Given the description of an element on the screen output the (x, y) to click on. 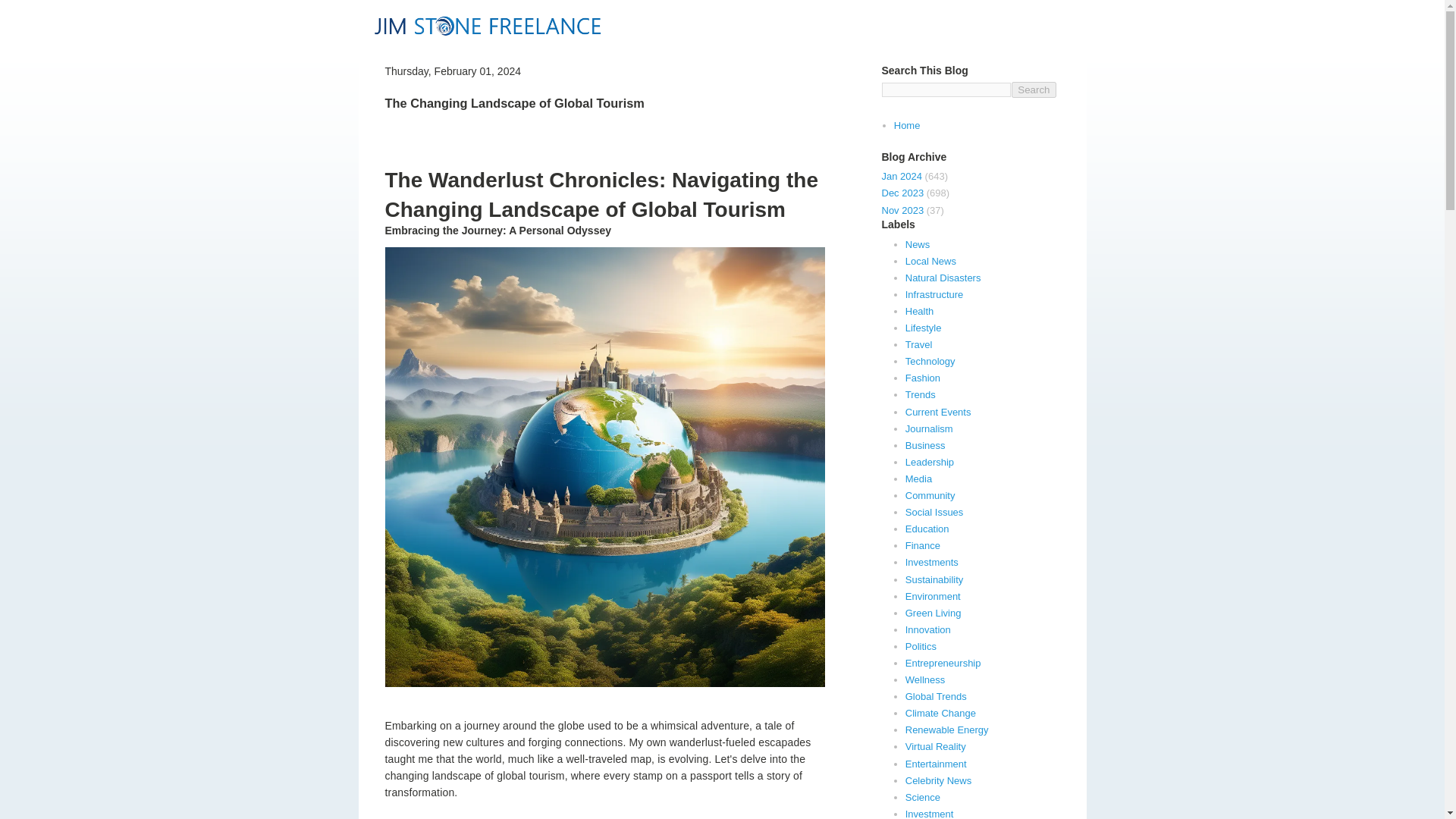
Dec 2023 (901, 193)
Search (1033, 89)
Business (924, 445)
Finance (922, 545)
Jan 2024 (900, 175)
Leadership (929, 461)
Journalism (929, 428)
Travel (919, 344)
Search (1033, 89)
Innovation (927, 629)
